Given the description of an element on the screen output the (x, y) to click on. 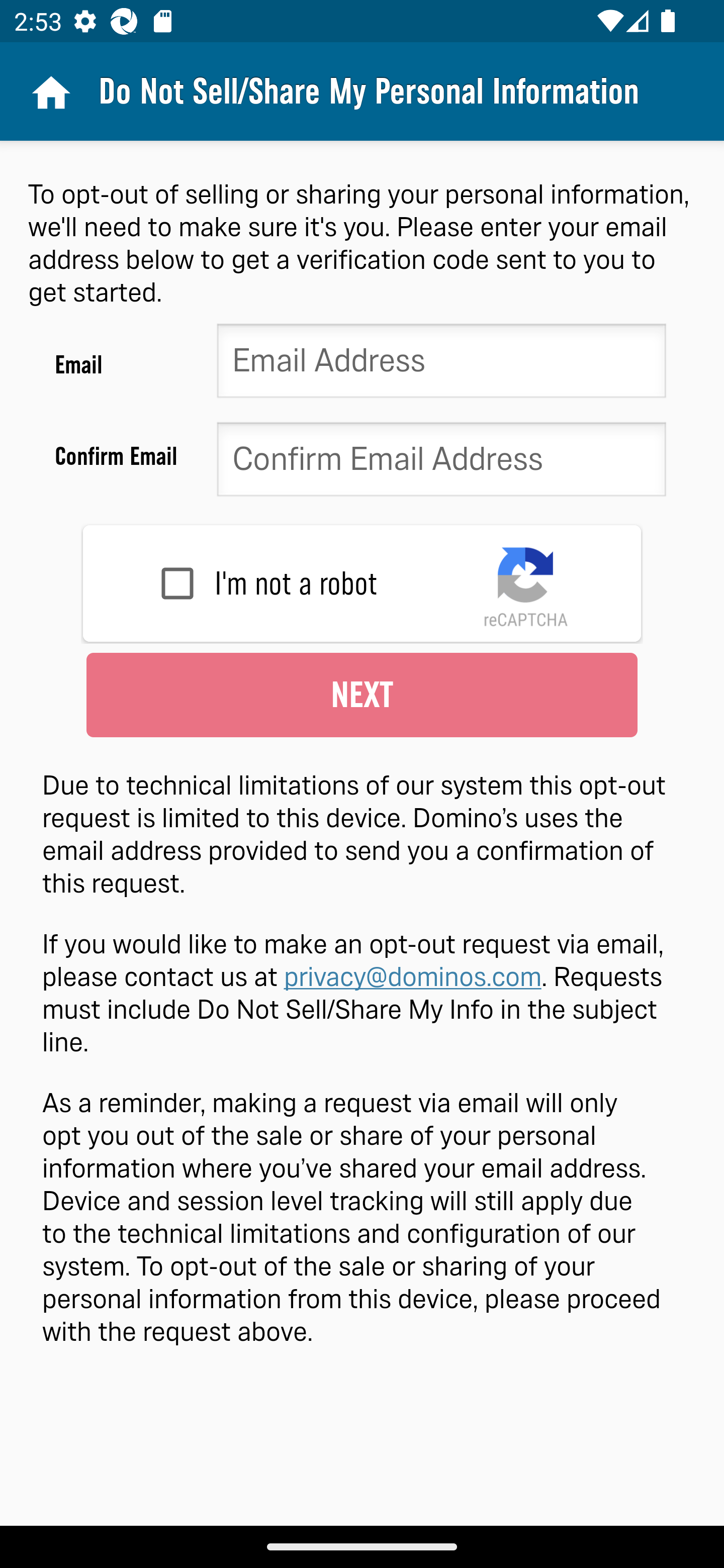
Home (49, 91)
Email Address (440, 365)
Confirm Email Address (440, 462)
I'm not a robot (177, 583)
NEXT (361, 694)
